Given the description of an element on the screen output the (x, y) to click on. 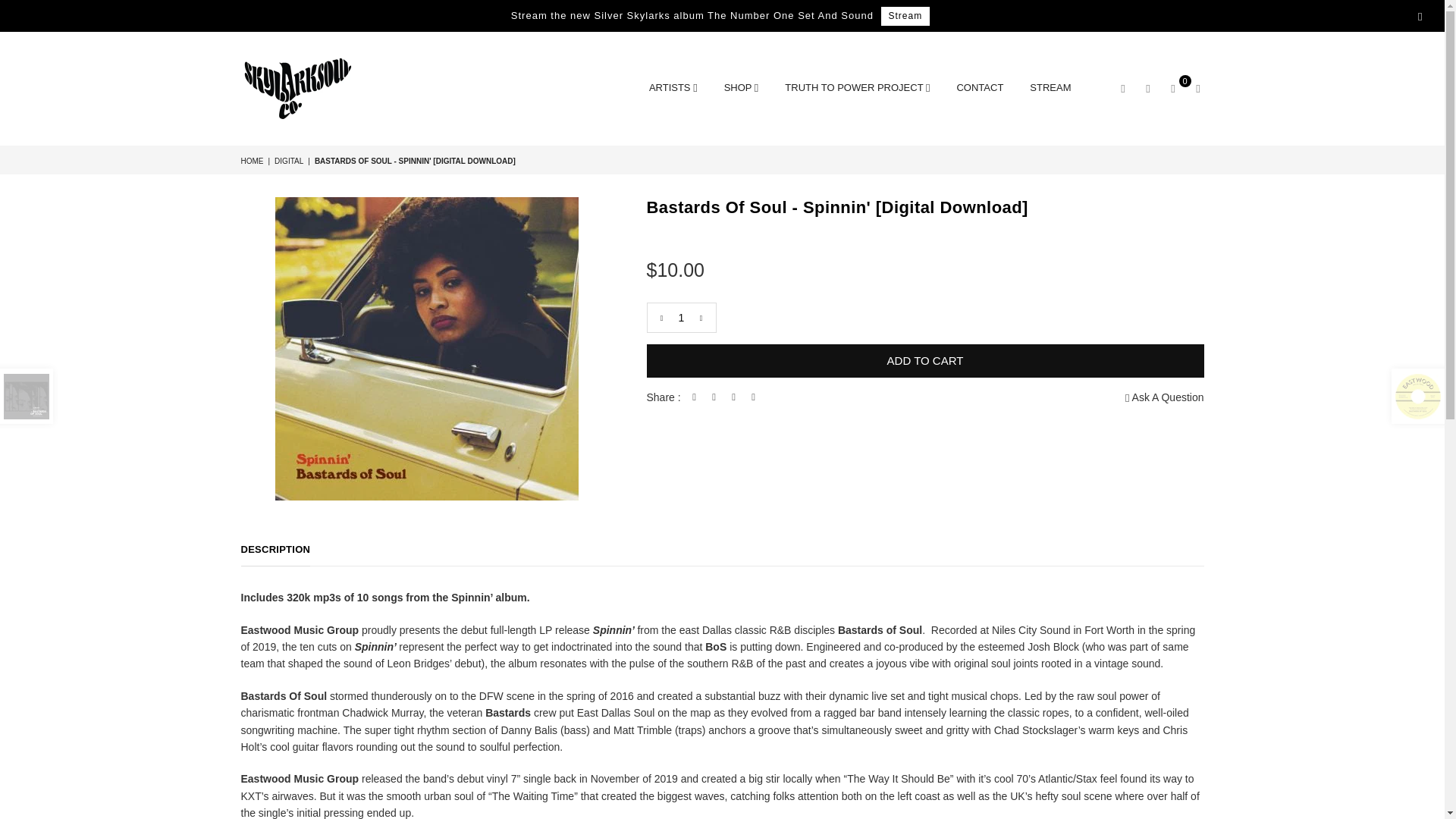
Back to the home page (253, 161)
TRUTH TO POWER PROJECT (856, 88)
0 (1172, 87)
ARTISTS (673, 88)
STREAM (1049, 88)
Previous Product (26, 396)
CONTACT (979, 88)
EASTWOOD MUSIC GROUP (298, 88)
SEARCH (1122, 87)
SHOP (741, 88)
Pin on Pinterest (733, 397)
Logout (1147, 87)
Share on Facebook (694, 397)
Share by Email (753, 397)
Tweet on Twitter (713, 397)
